Given the description of an element on the screen output the (x, y) to click on. 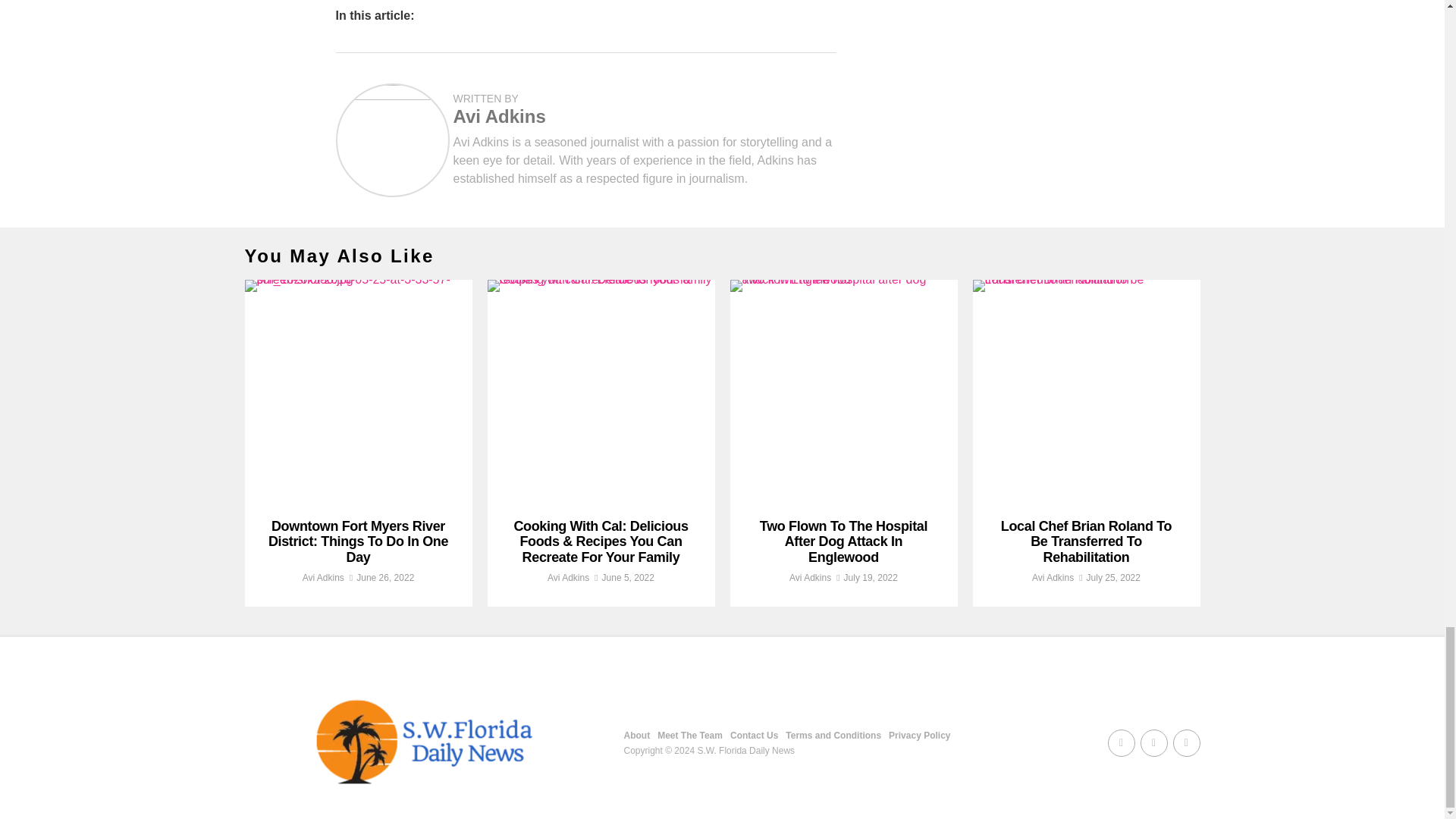
Posts by Avi Adkins (568, 577)
Posts by Avi Adkins (322, 577)
Posts by Avi Adkins (499, 116)
